Given the description of an element on the screen output the (x, y) to click on. 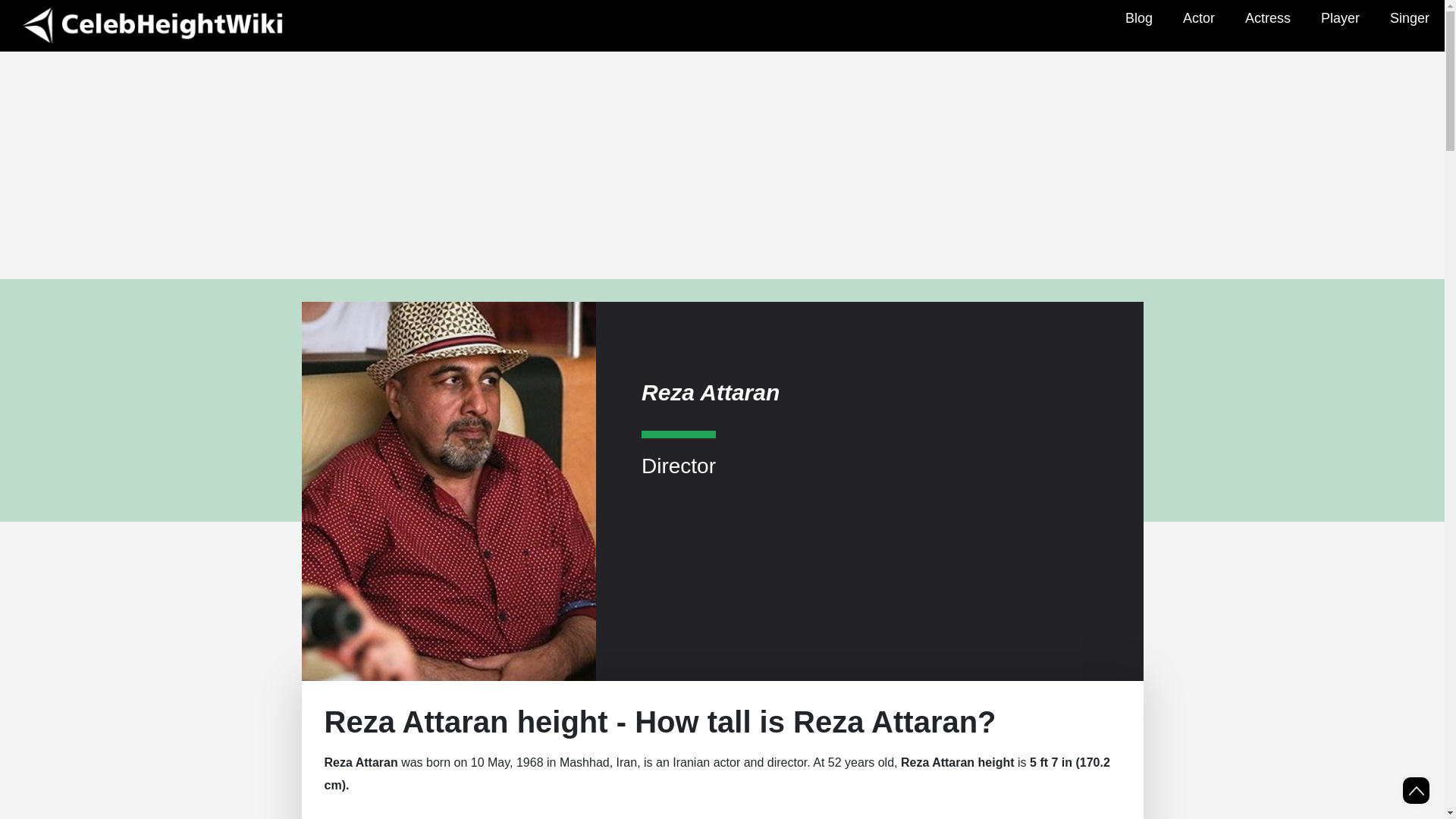
Actress (1268, 18)
Player (1340, 18)
Actor (1198, 18)
Blog (1138, 18)
Director (679, 452)
